Given the description of an element on the screen output the (x, y) to click on. 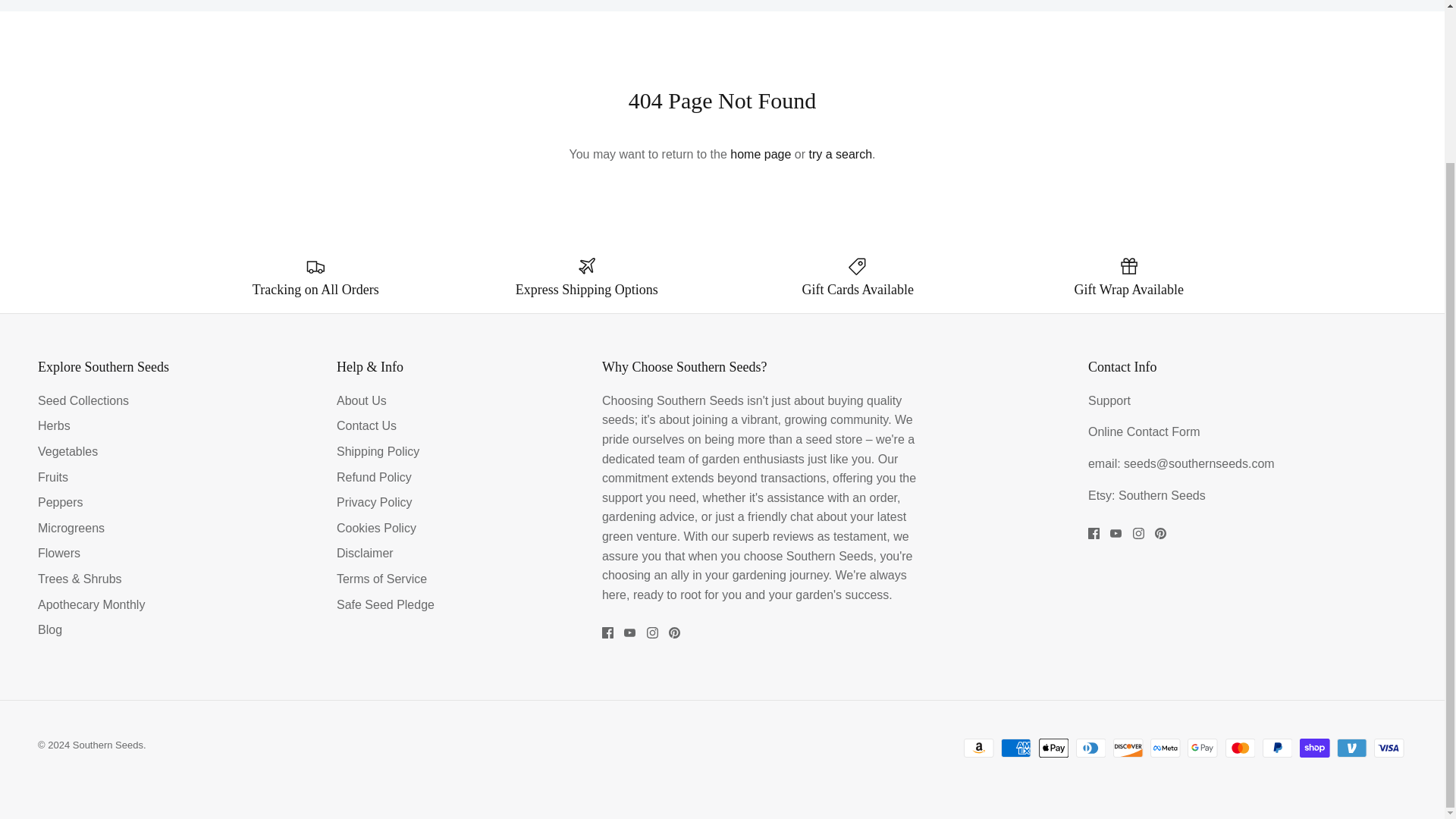
Amazon (978, 747)
Contact Us (1162, 431)
Facebook (1093, 532)
Youtube (1115, 532)
Youtube (629, 632)
American Express (1015, 747)
Pinterest (1160, 532)
Instagram (652, 632)
Pinterest (673, 632)
Instagram (1138, 532)
Facebook (607, 632)
